Given the description of an element on the screen output the (x, y) to click on. 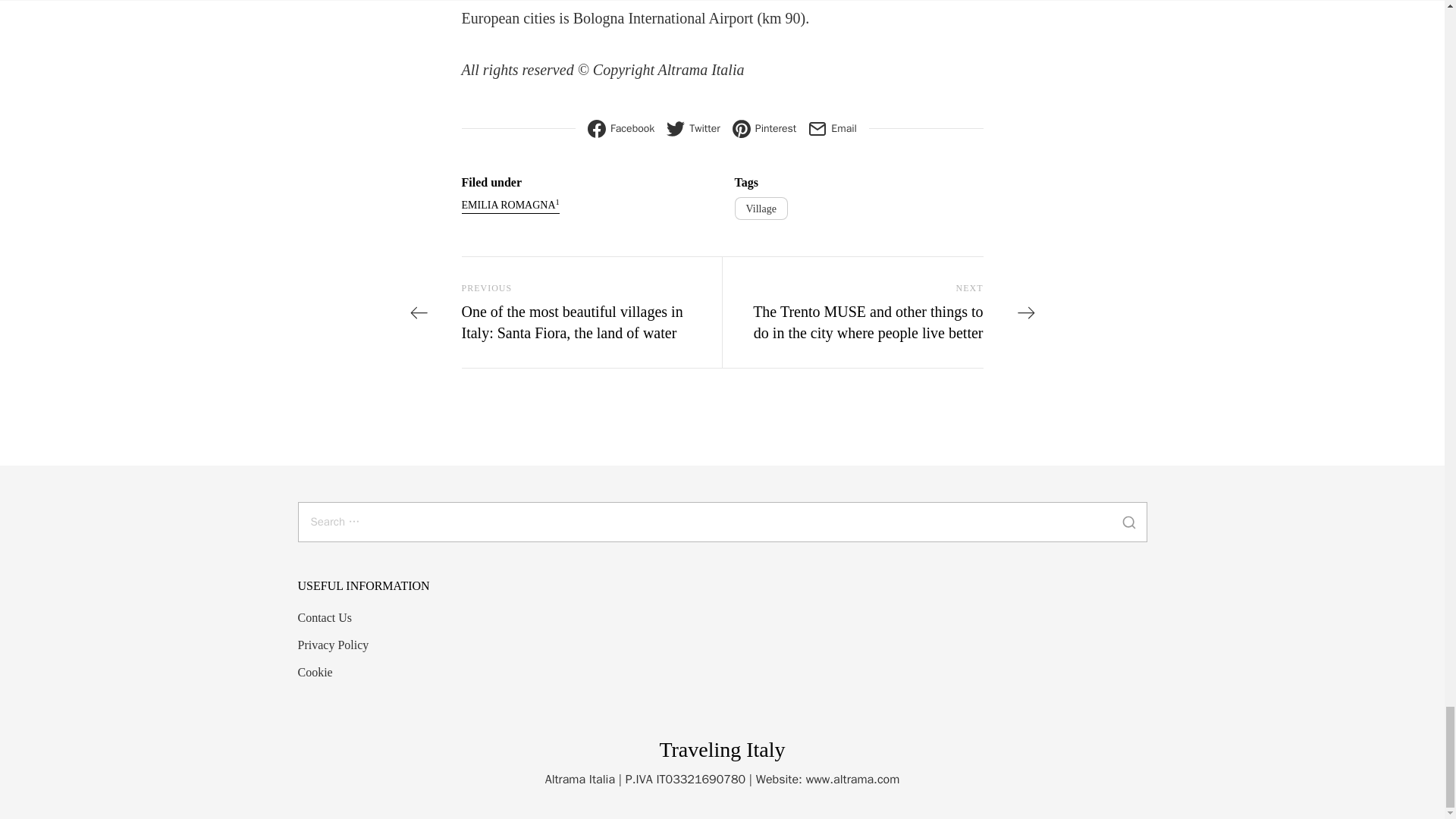
View all posts in Emilia Romagna (510, 205)
Search for: (722, 522)
View all posts in Village (760, 208)
